Given the description of an element on the screen output the (x, y) to click on. 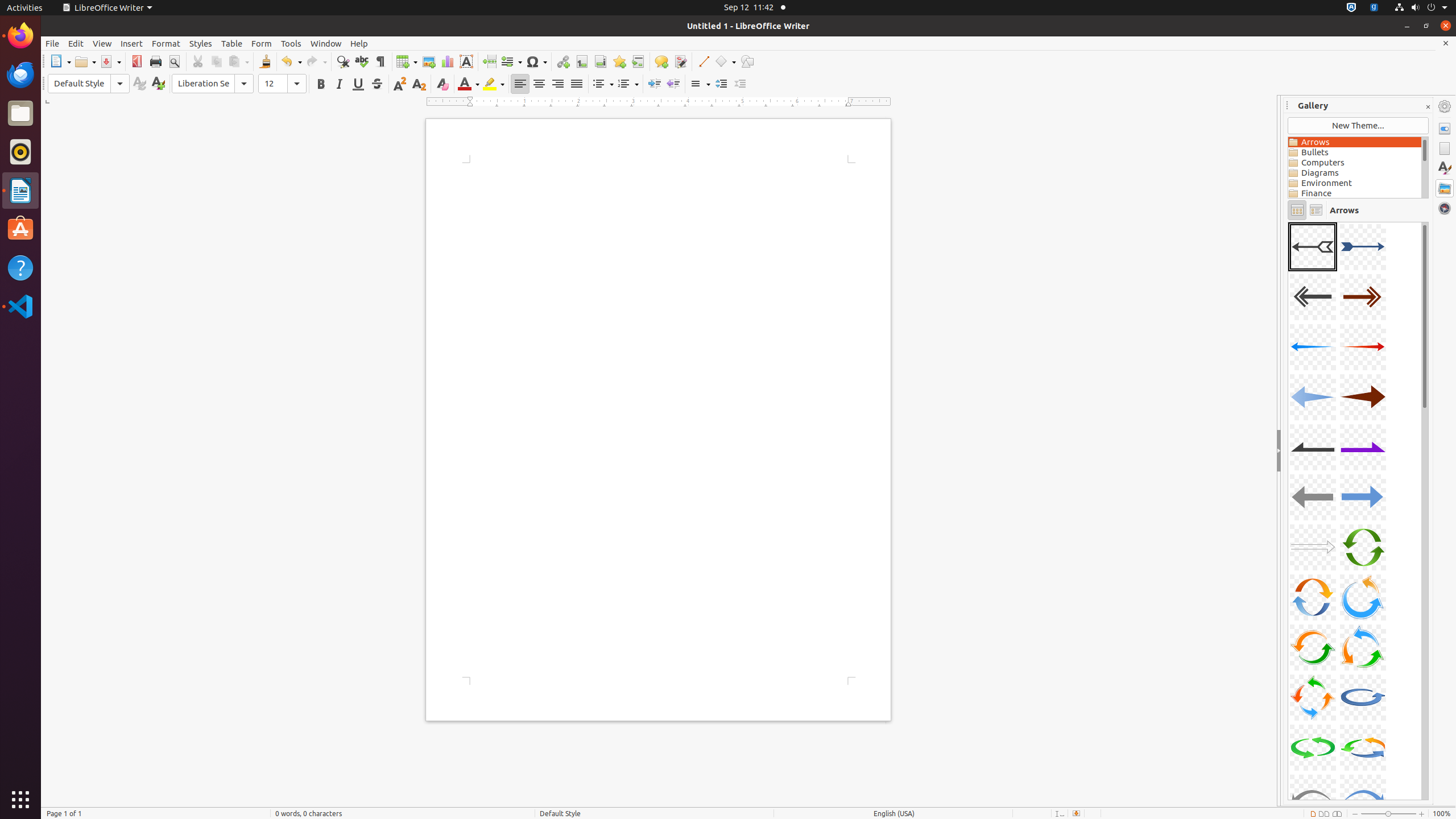
Thunderbird Mail Element type: push-button (20, 74)
